Given the description of an element on the screen output the (x, y) to click on. 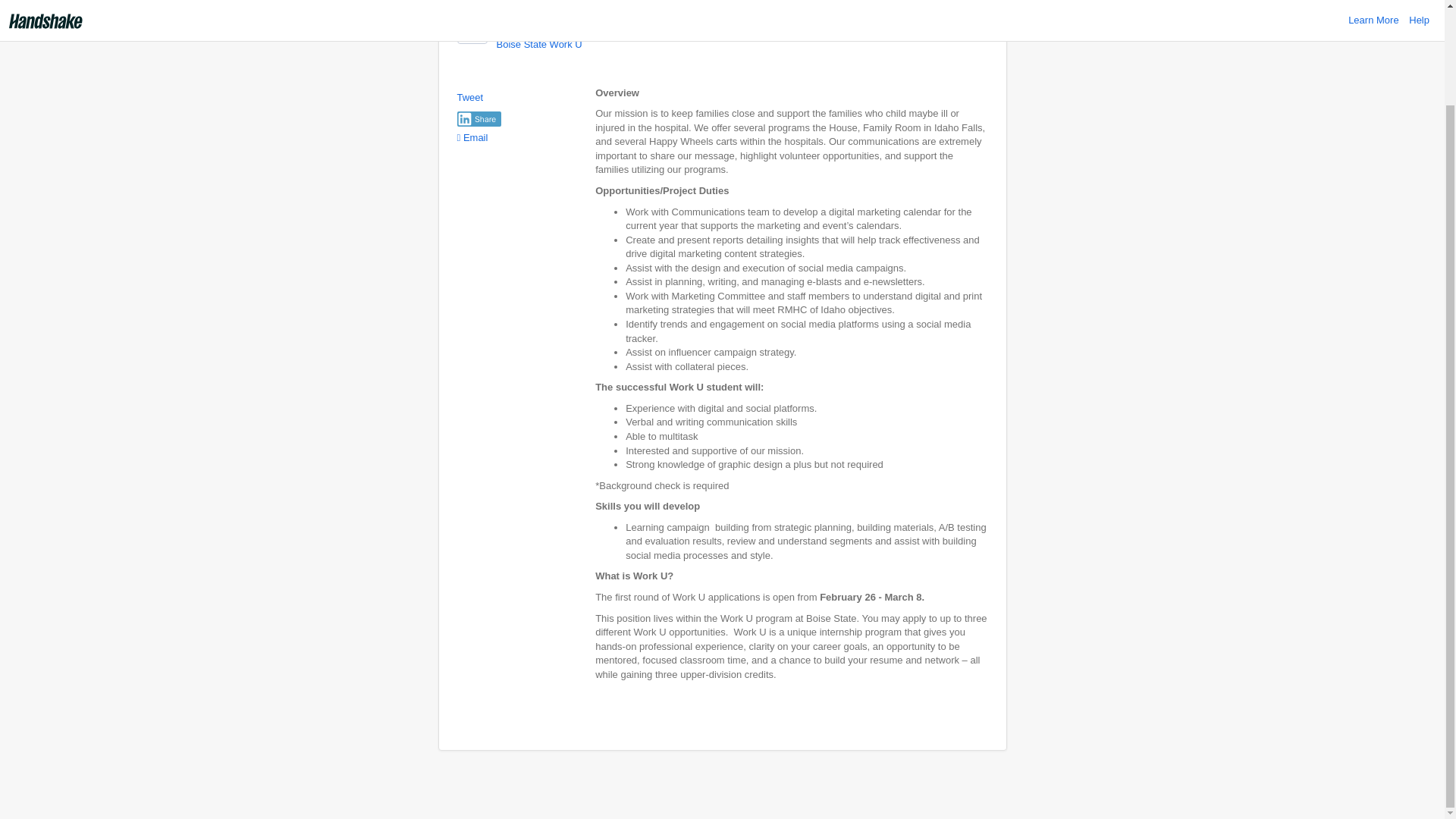
Boise State Work U (538, 43)
Email (472, 137)
Tweet (470, 97)
Share (478, 118)
Share by Email (472, 137)
